Given the description of an element on the screen output the (x, y) to click on. 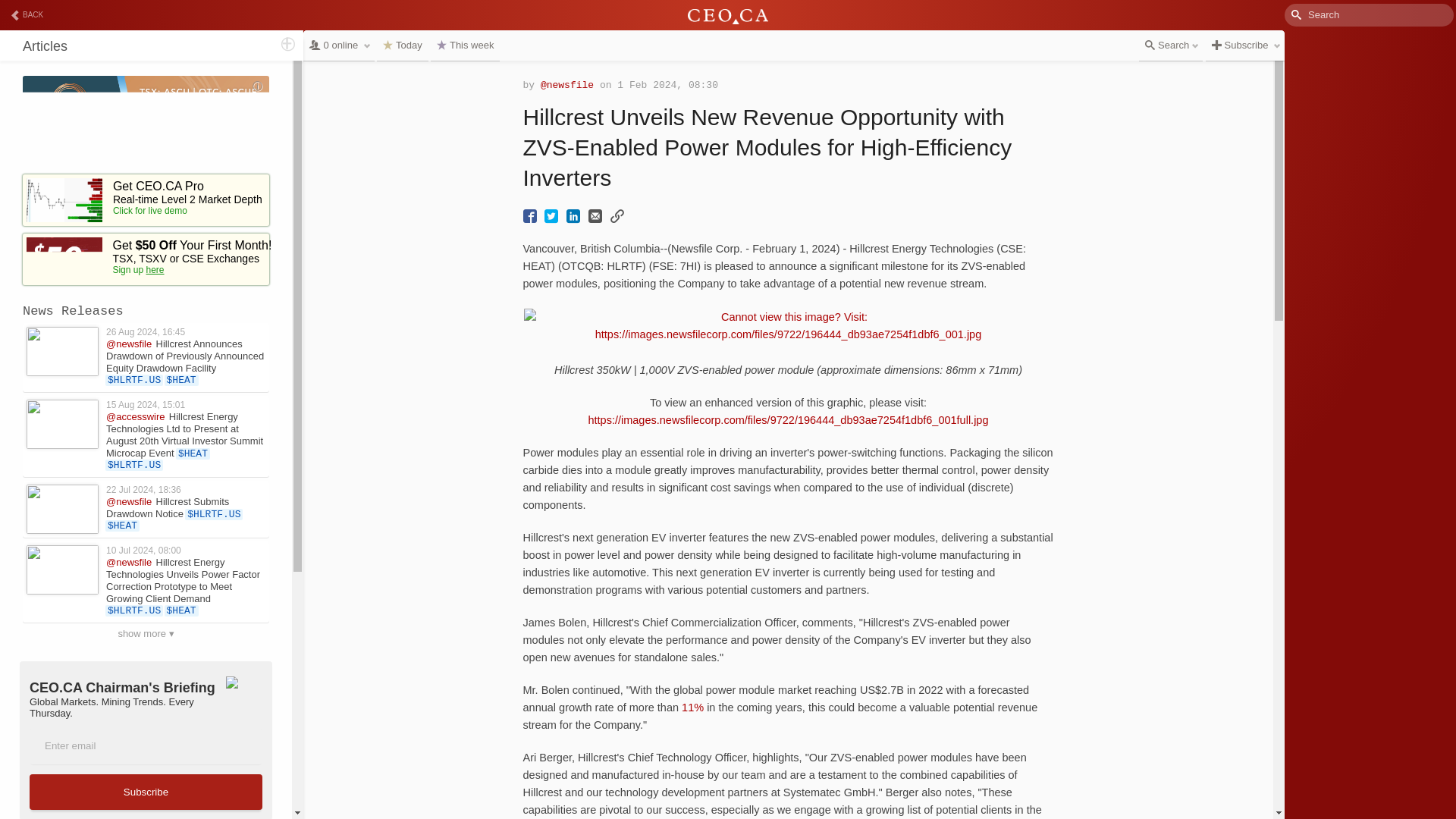
Subscribe (145, 791)
Search (71, 10)
